Given the description of an element on the screen output the (x, y) to click on. 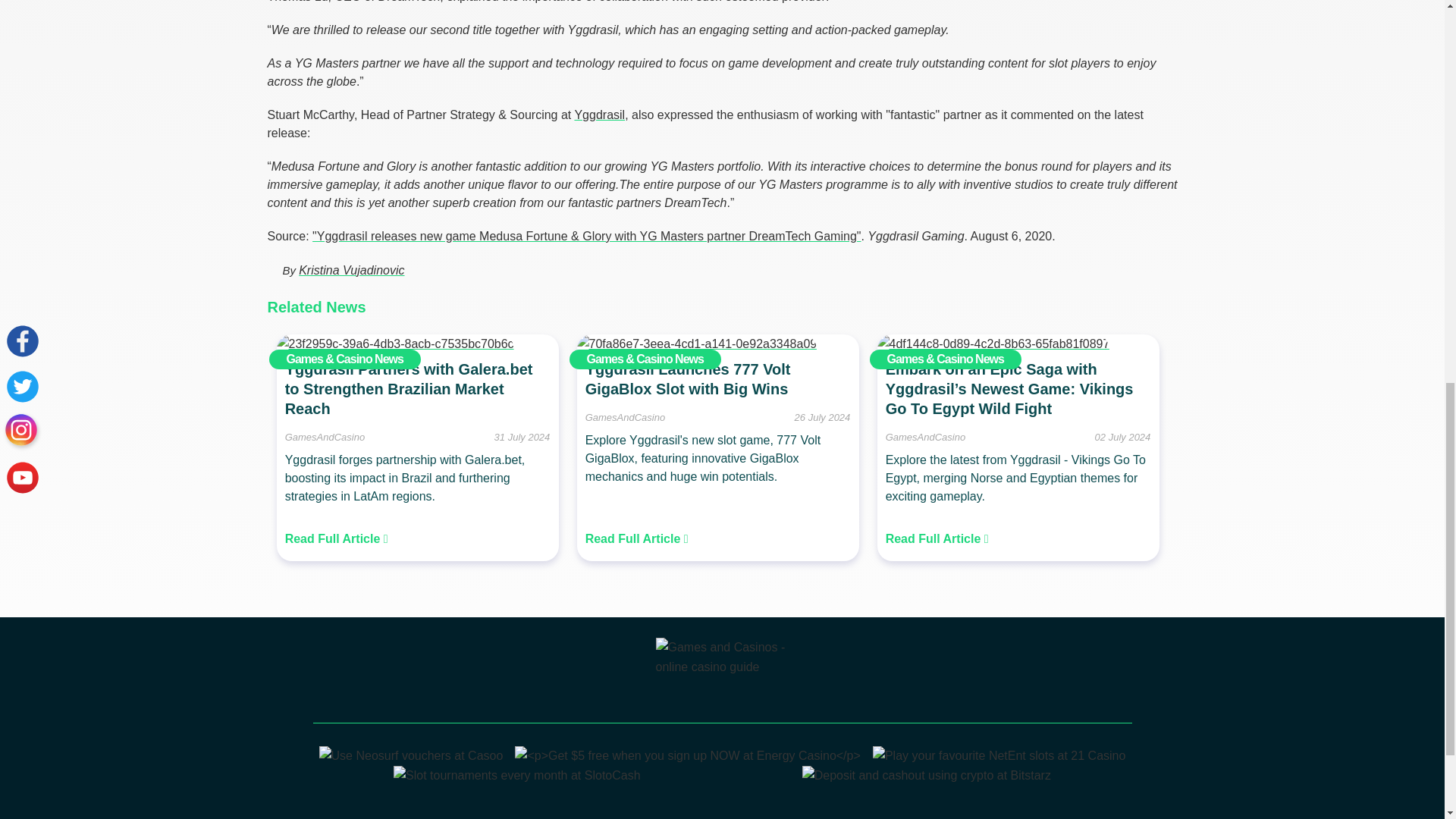
21 Casino (998, 755)
Sloto'Cash Casino (516, 775)
Yggdrasil Casinos (598, 114)
EnergyCasino (687, 755)
Games and Casinos - online casino guide (722, 675)
Casoo Casino (410, 755)
BitStarz Casino (926, 775)
